Given the description of an element on the screen output the (x, y) to click on. 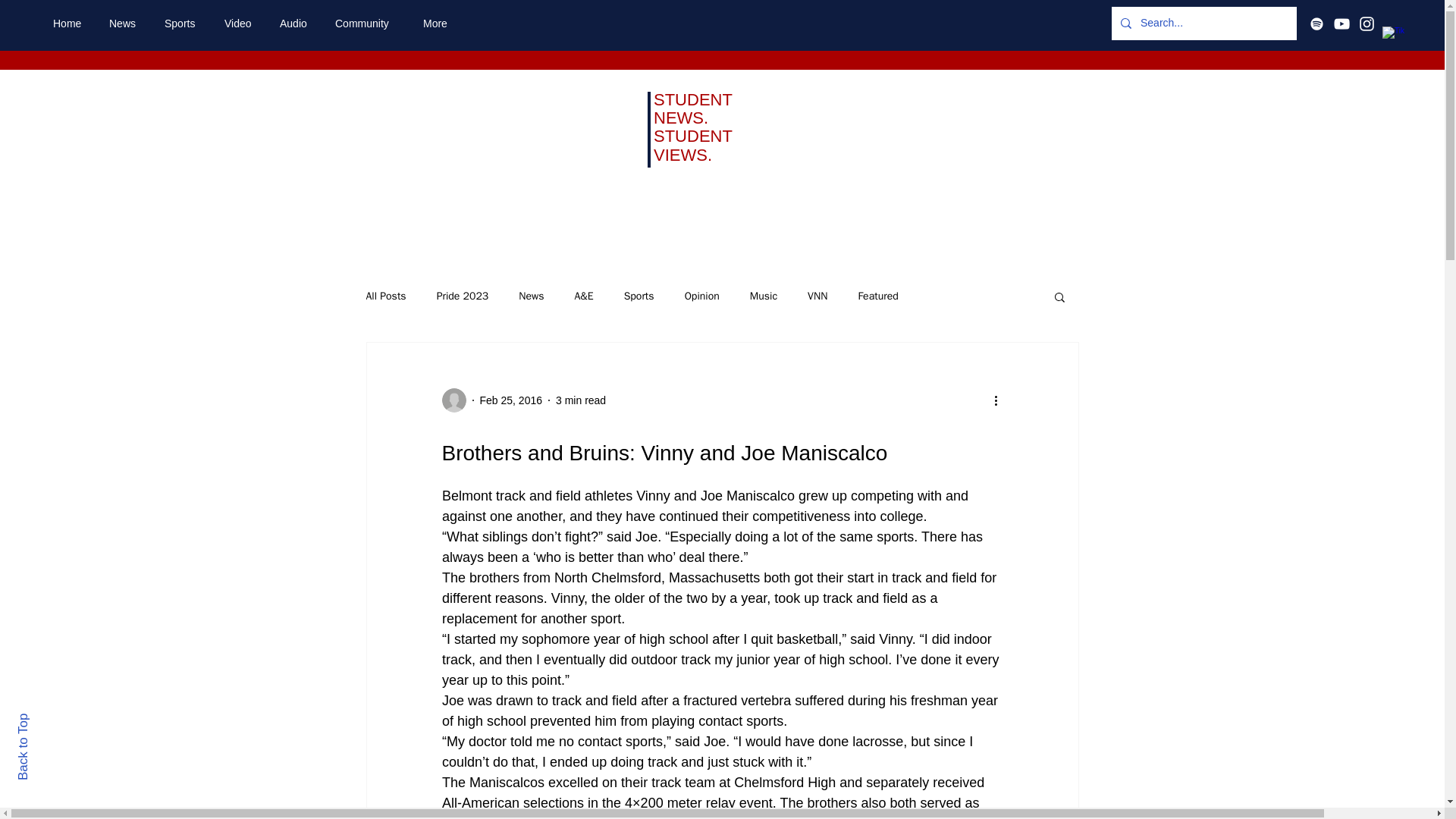
All Posts (385, 296)
Feb 25, 2016 (510, 399)
Community (367, 23)
Opinion (701, 296)
Audio (295, 23)
Pride 2023 (462, 296)
Sports (638, 296)
Sports (182, 23)
Home (69, 23)
VNN (817, 296)
News (124, 23)
Video (239, 23)
News (530, 296)
Music (763, 296)
Featured (877, 296)
